Given the description of an element on the screen output the (x, y) to click on. 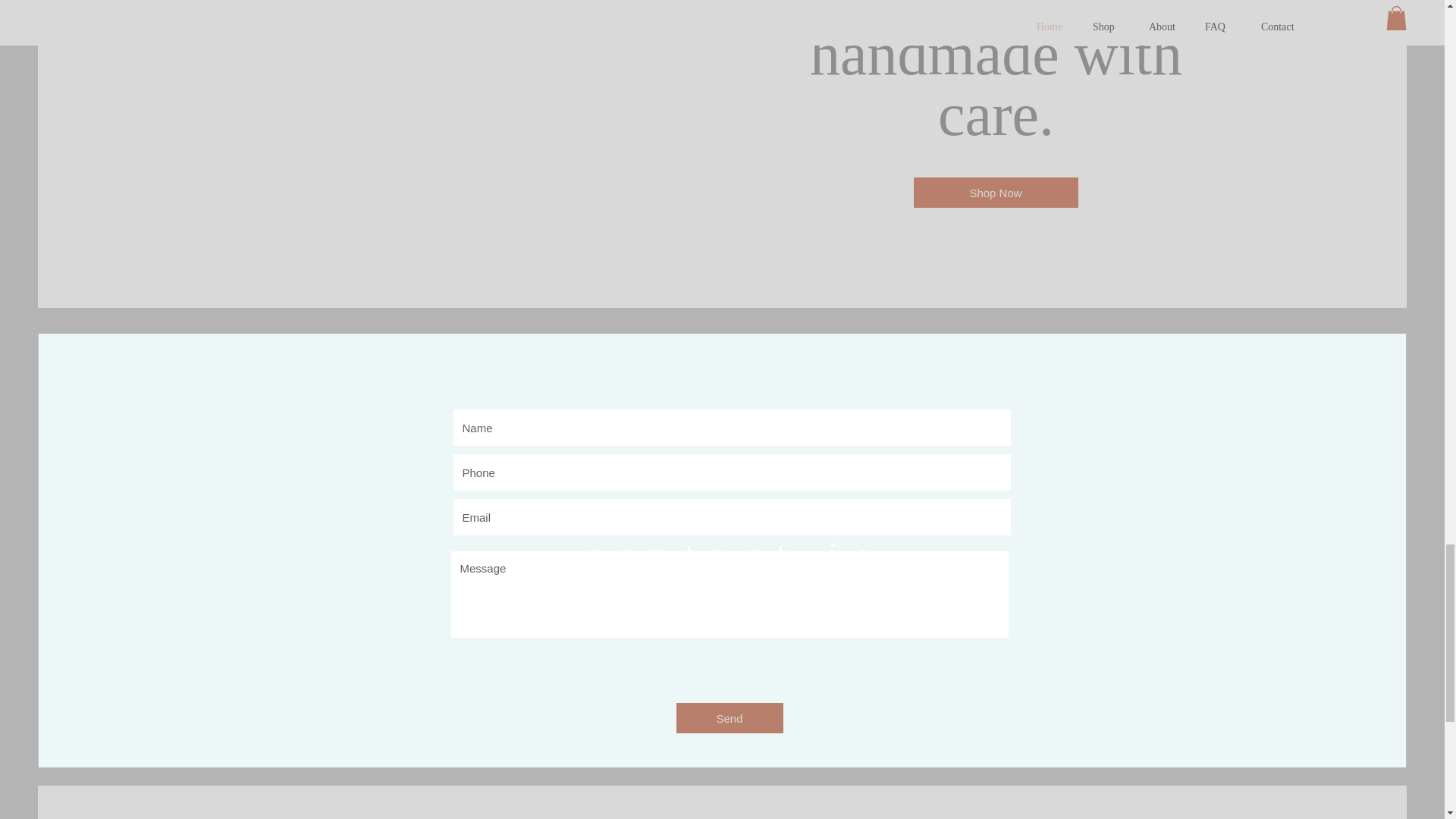
Shop Now (994, 192)
Send (730, 717)
